Given the description of an element on the screen output the (x, y) to click on. 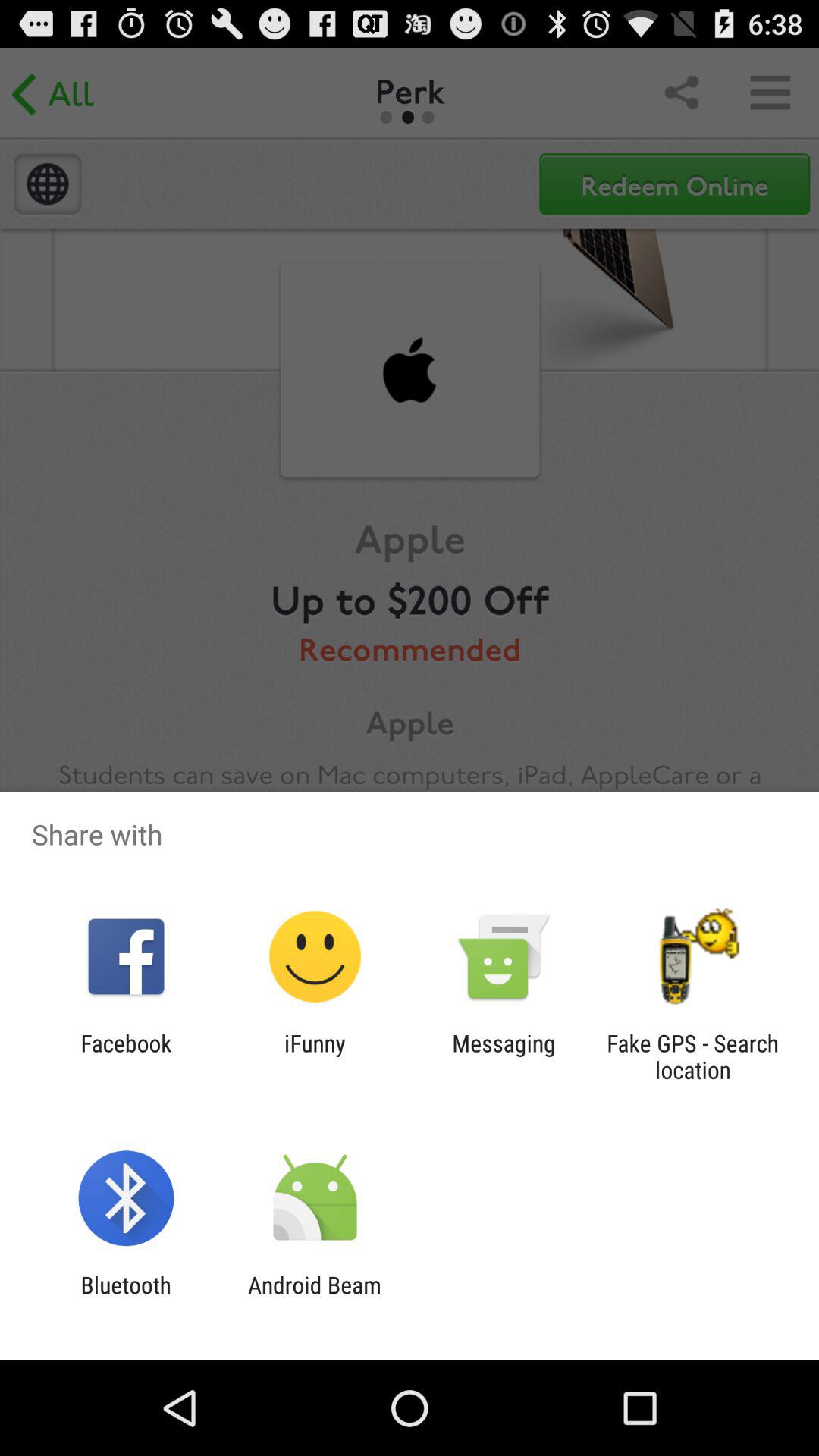
tap item next to ifunny app (125, 1056)
